Given the description of an element on the screen output the (x, y) to click on. 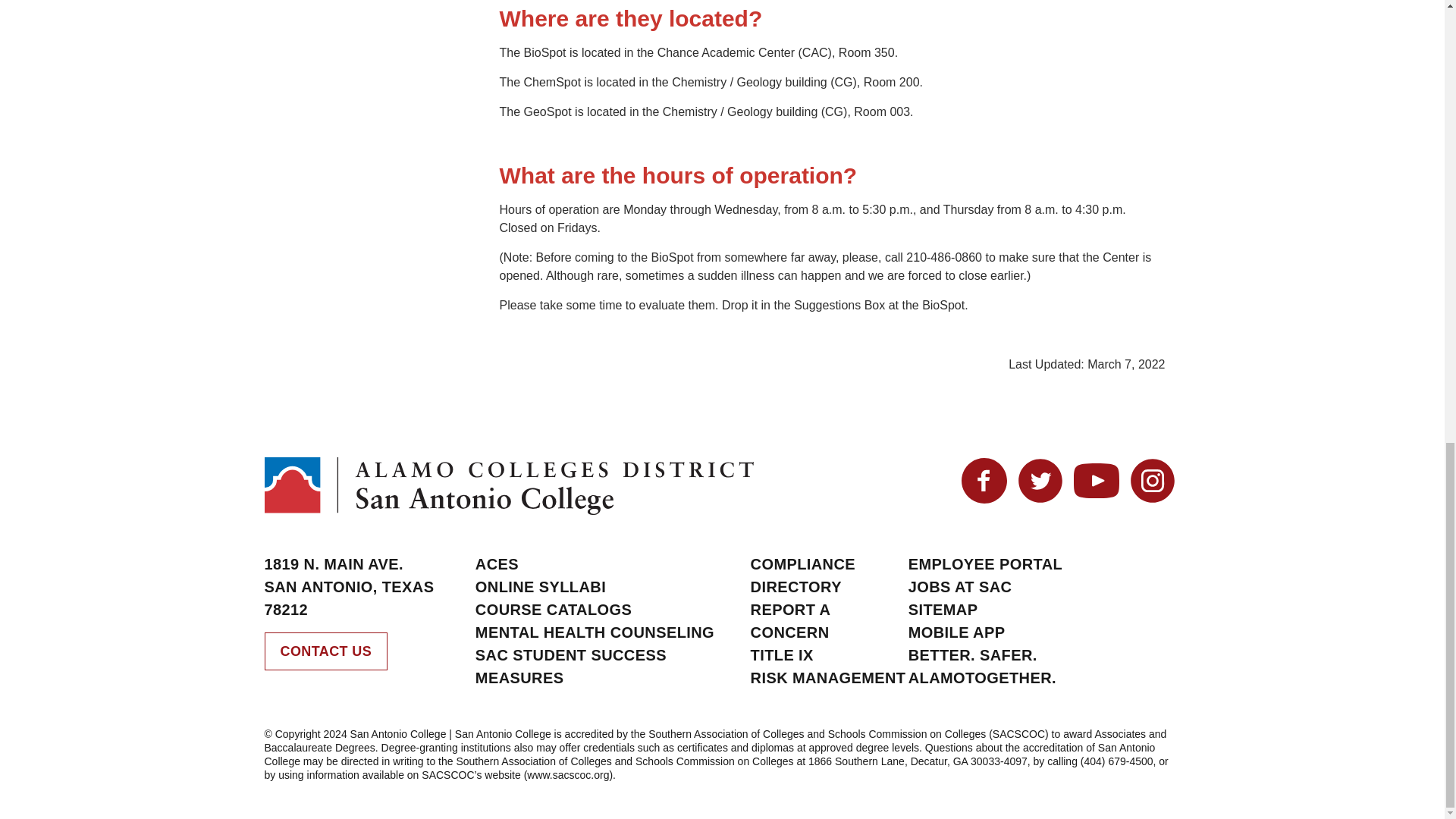
Contact Us (325, 651)
Mobile App (957, 632)
online Syllabi (540, 586)
